Given the description of an element on the screen output the (x, y) to click on. 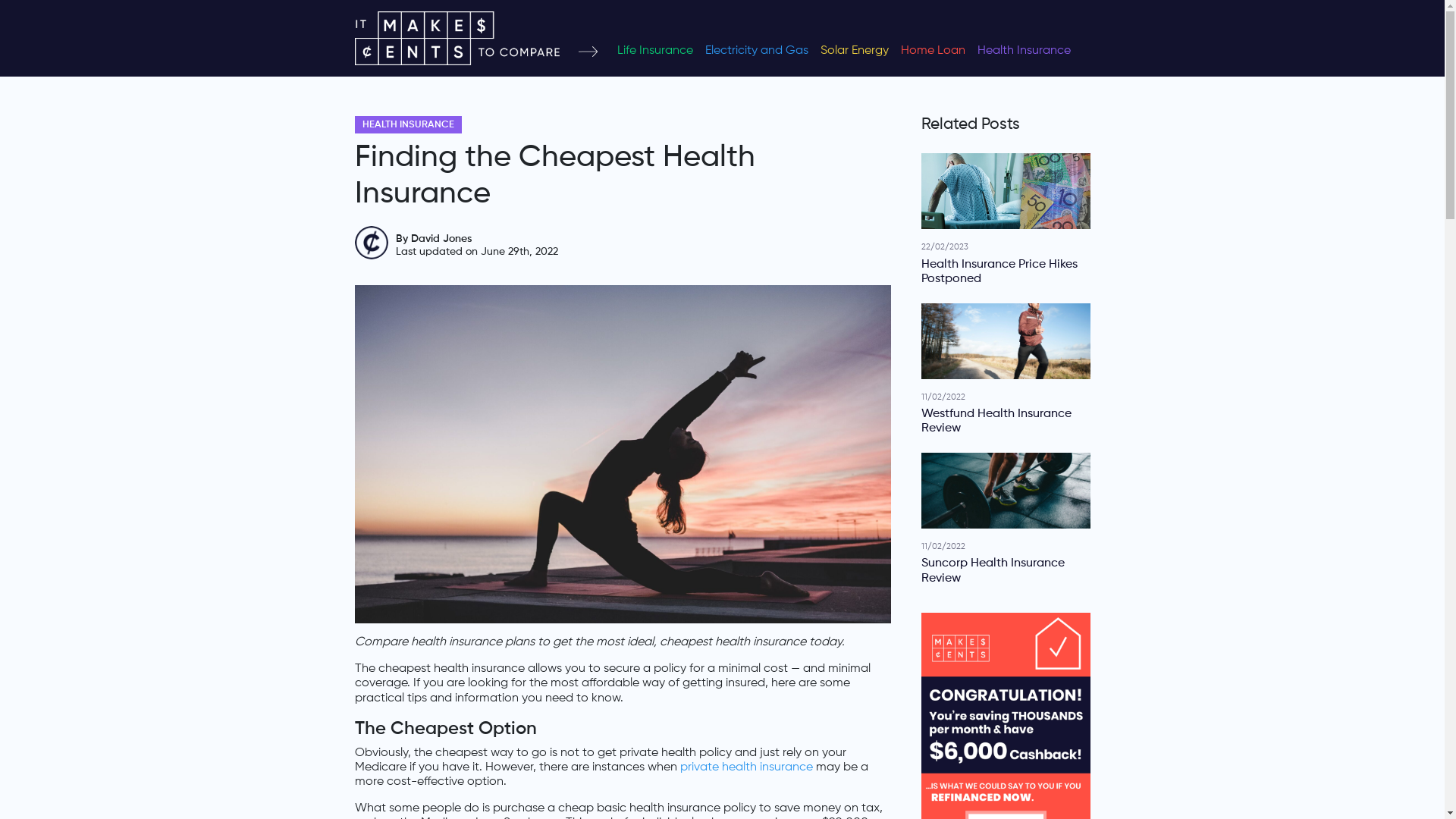
private health insurance Element type: text (745, 767)
Westfund Health Insurance Review Element type: text (1005, 421)
Solar Energy Element type: text (854, 49)
HEALTH INSURANCE Element type: text (407, 124)
Life Insurance Element type: text (655, 49)
Health Insurance Element type: text (1023, 49)
Electricity and Gas Element type: text (756, 49)
Suncorp Health Insurance Review Element type: text (1005, 570)
Health Insurance Price Hikes Postponed Element type: text (1005, 271)
Home Loan Element type: text (932, 49)
